Given the description of an element on the screen output the (x, y) to click on. 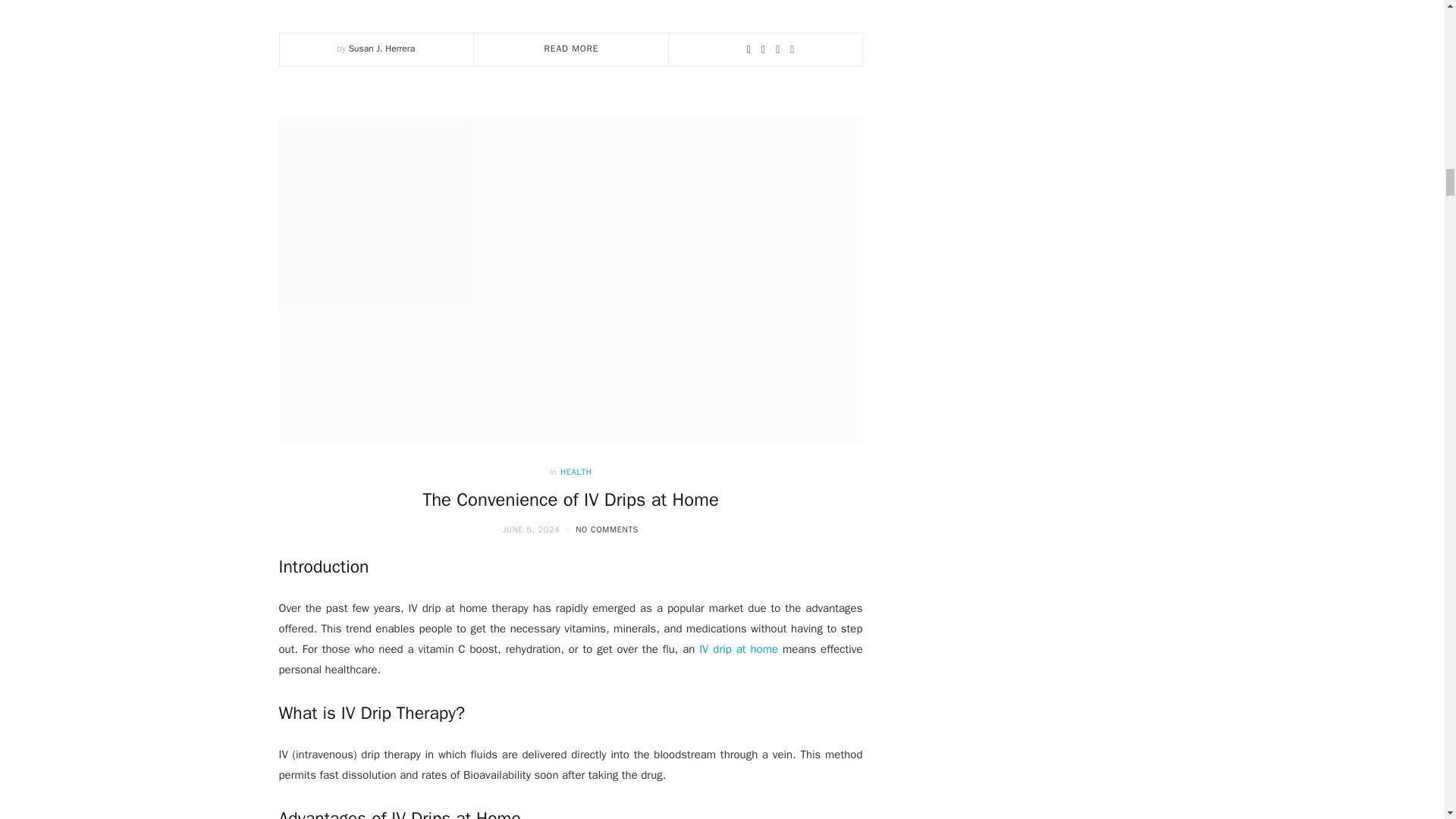
Susan J. Herrera (381, 48)
